Given the description of an element on the screen output the (x, y) to click on. 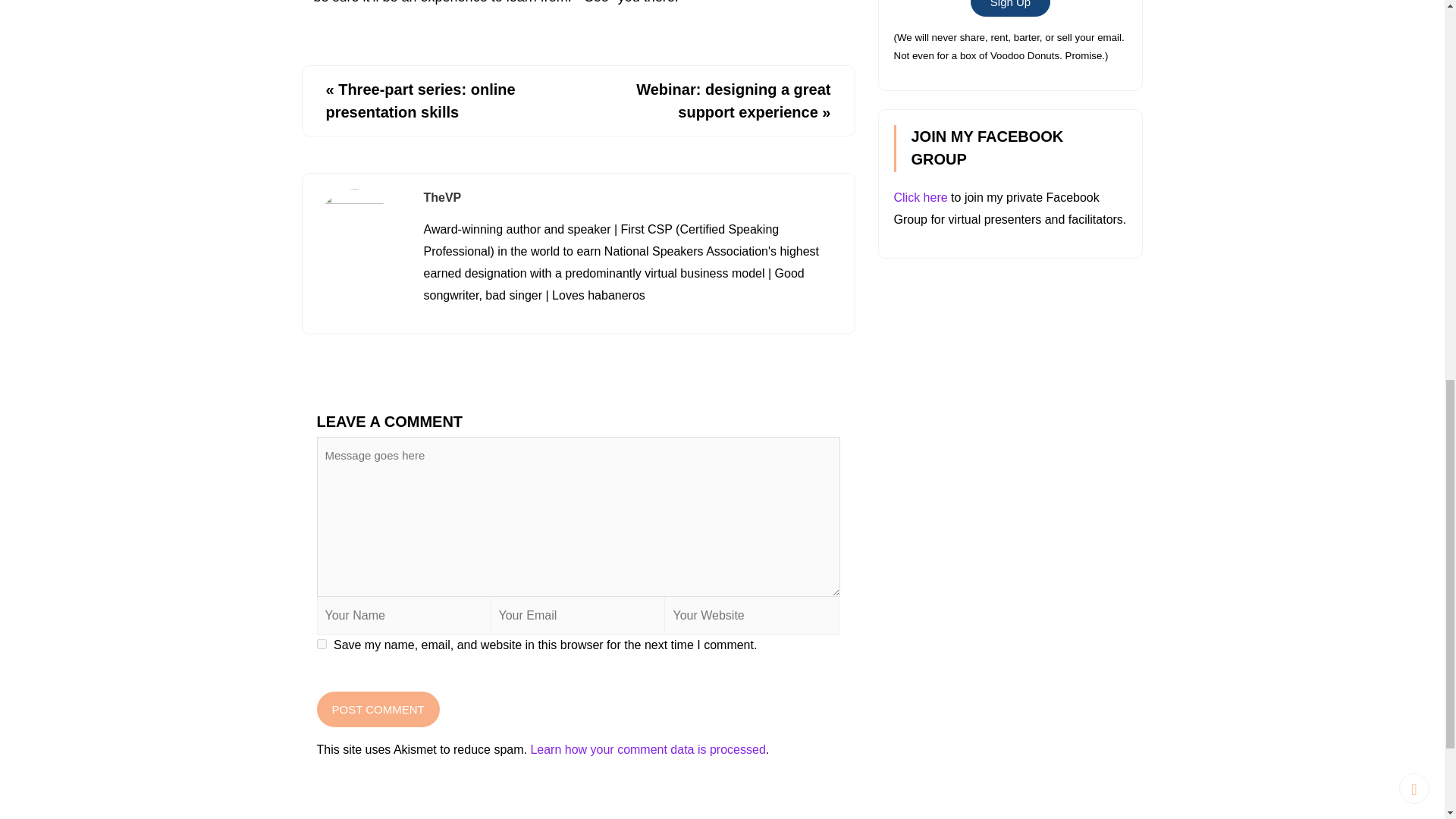
Webinar: designing a great support experience (732, 100)
Learn how your comment data is processed (647, 748)
Sign Up (1010, 8)
Three-part series: online presentation skills (420, 100)
POST COMMENT (378, 709)
Sign Up (1010, 4)
Click here (920, 196)
yes (321, 644)
